Given the description of an element on the screen output the (x, y) to click on. 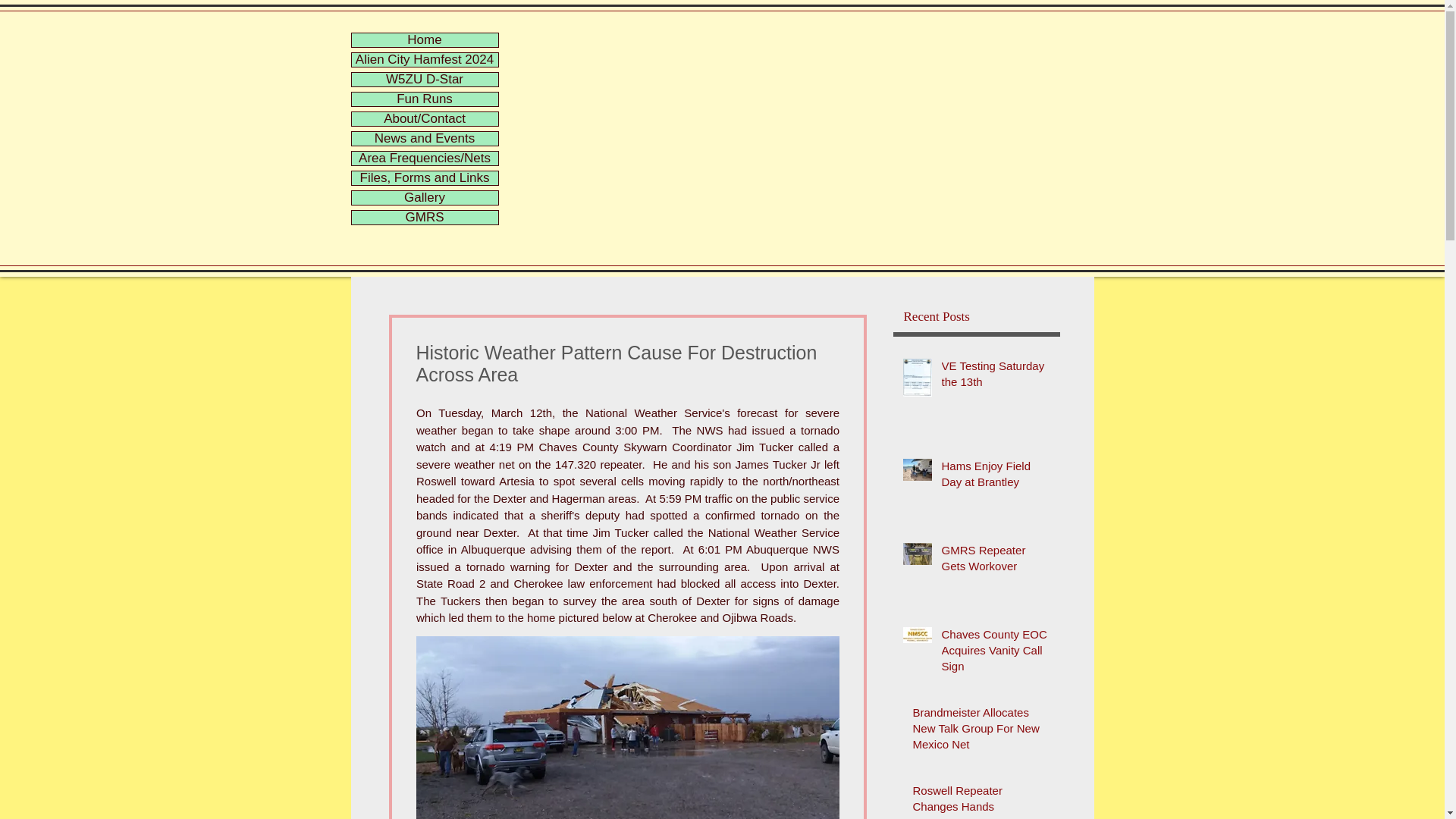
GMRS (424, 217)
Gallery (424, 197)
GMRS Repeater Gets Workover (996, 560)
Alien City Hamfest 2024 (424, 59)
Chaves County EOC Acquires Vanity Call Sign (996, 653)
Brandmeister Allocates New Talk Group For New Mexico Net (981, 731)
Roswell Repeater Changes Hands (981, 800)
News and Events (424, 138)
VE Testing Saturday the 13th (996, 376)
Files, Forms and Links (424, 178)
